Given the description of an element on the screen output the (x, y) to click on. 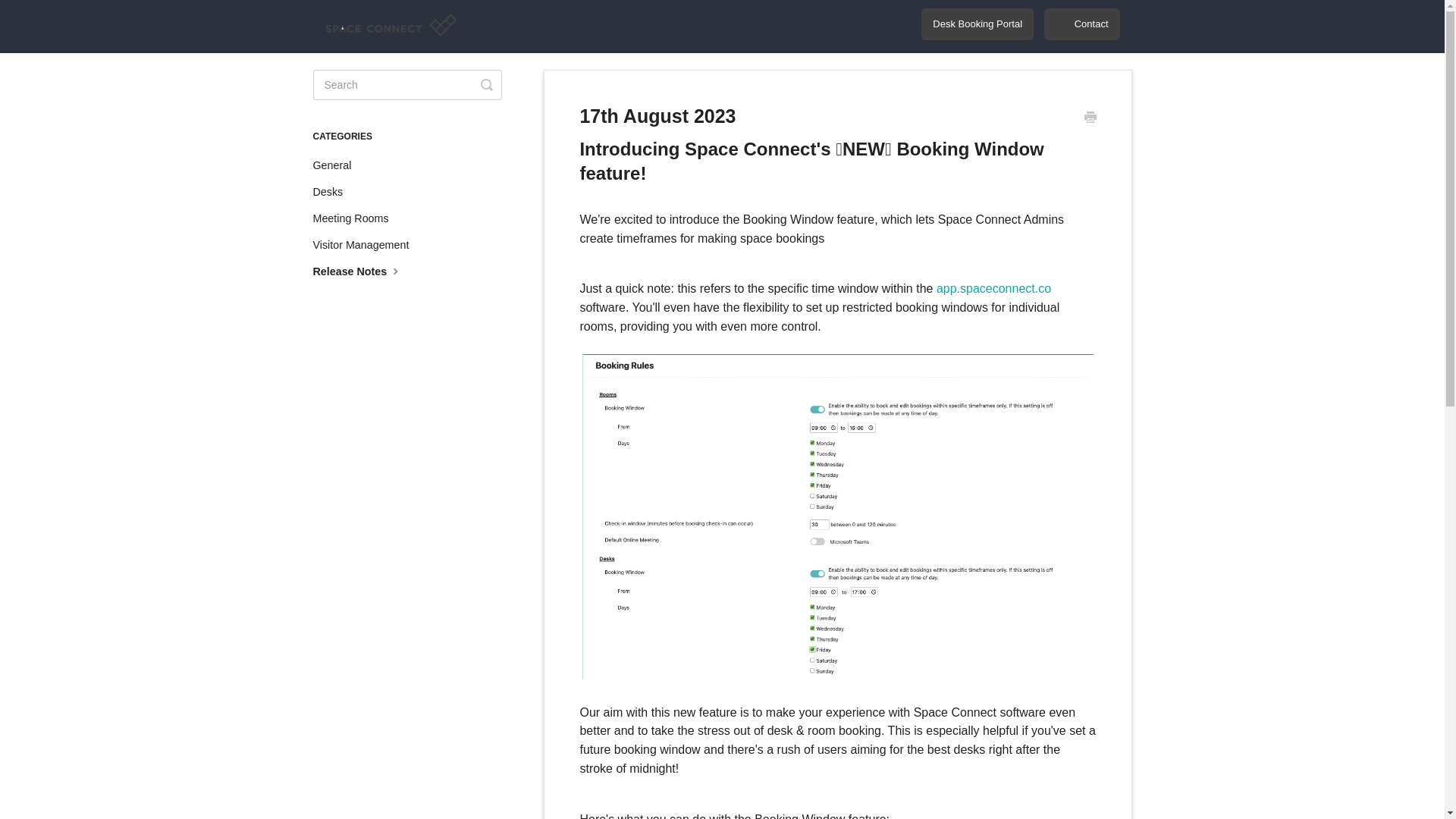
Release Notes (363, 271)
General (337, 165)
Visitor Management (366, 244)
Meeting Rooms (355, 218)
Desks (333, 191)
Desk Booking Portal (977, 24)
search-query (406, 84)
Contact (1081, 24)
app.spaceconnect.co (993, 287)
